Given the description of an element on the screen output the (x, y) to click on. 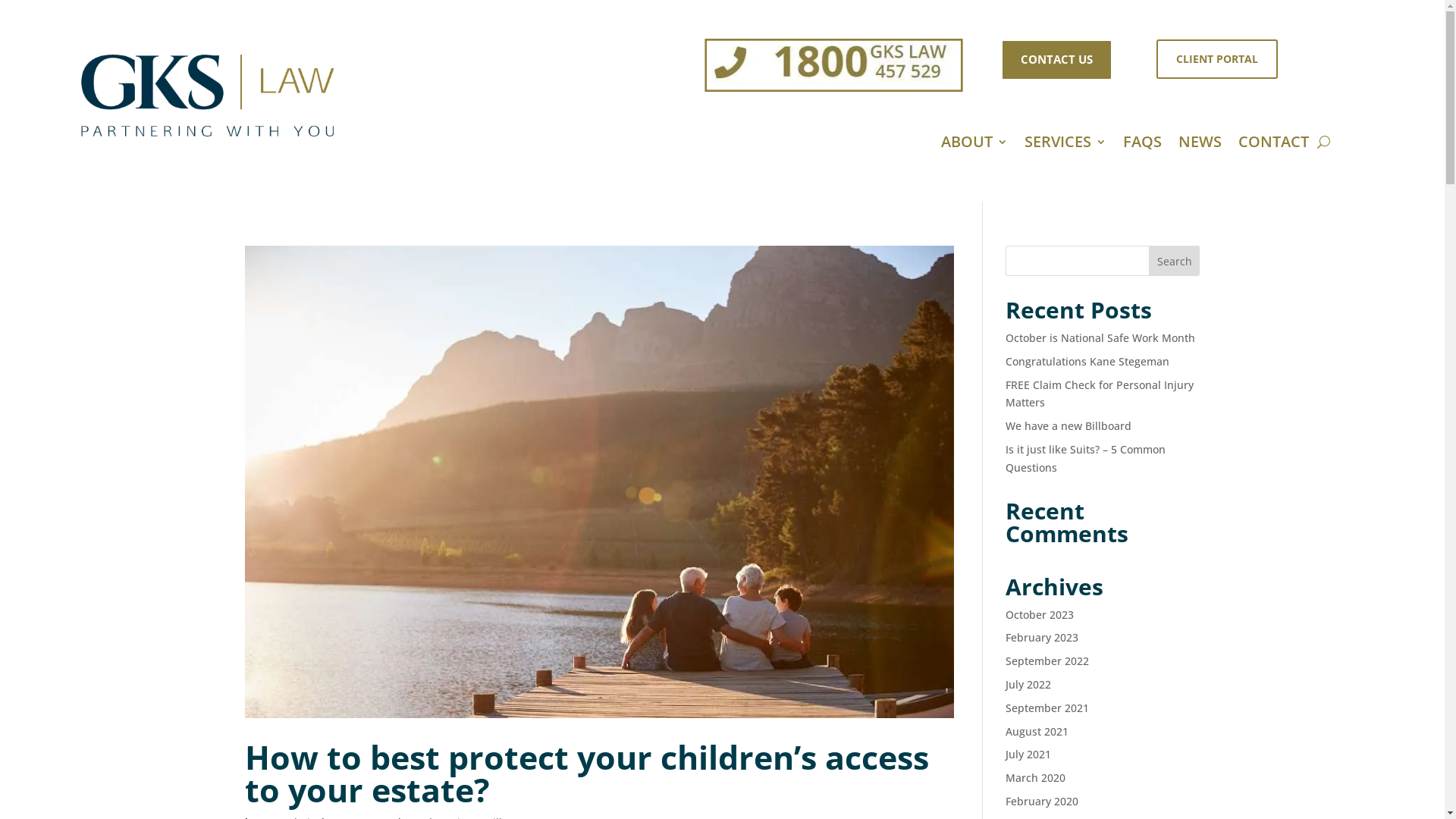
February 2020 Element type: text (1041, 800)
March 2020 Element type: text (1035, 777)
1800gkslaw_gold Element type: hover (797, 57)
August 2021 Element type: text (1036, 731)
October is National Safe Work Month Element type: text (1100, 337)
CLIENT PORTAL Element type: text (1216, 58)
October 2023 Element type: text (1039, 614)
FAQS Element type: text (1142, 144)
Congratulations Kane Stegeman Element type: text (1087, 361)
NEWS Element type: text (1199, 144)
SERVICES Element type: text (1065, 144)
CONTACT US Element type: text (1056, 59)
We have a new Billboard Element type: text (1068, 425)
GKS Law Logo_full colour_tagline_500x207px Element type: hover (207, 95)
Search Element type: text (1174, 260)
July 2021 Element type: text (1028, 753)
CONTACT Element type: text (1273, 144)
ABOUT Element type: text (974, 144)
September 2021 Element type: text (1046, 707)
February 2023 Element type: text (1041, 637)
July 2022 Element type: text (1028, 684)
FREE Claim Check for Personal Injury Matters Element type: text (1099, 393)
September 2022 Element type: text (1046, 660)
